Given the description of an element on the screen output the (x, y) to click on. 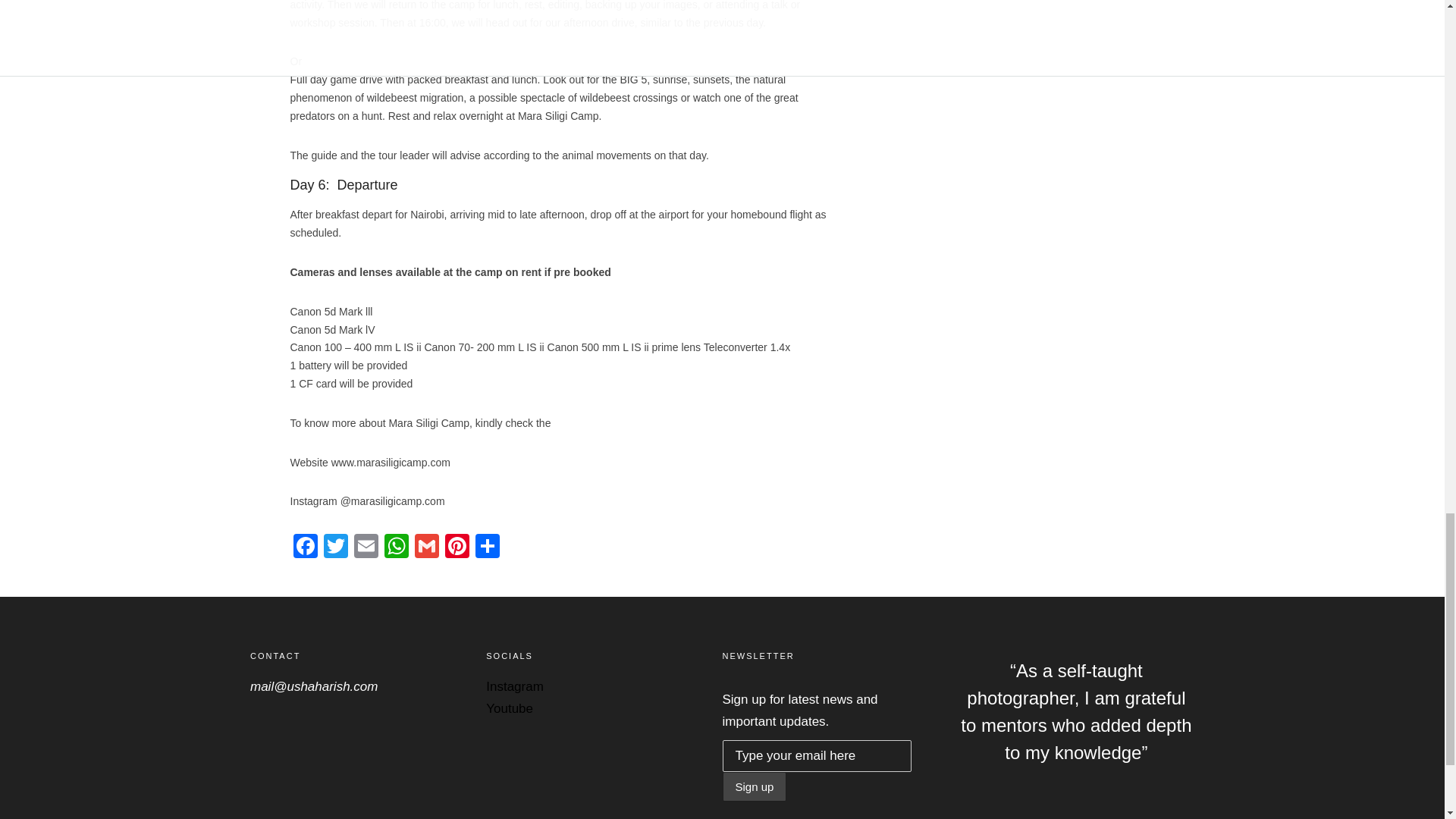
Youtube (509, 708)
WhatsApp (395, 547)
Facebook (304, 547)
Gmail (425, 547)
Instagram (514, 686)
Pinterest (456, 547)
Gmail (425, 547)
Email (365, 547)
Twitter (335, 547)
Twitter (335, 547)
